Given the description of an element on the screen output the (x, y) to click on. 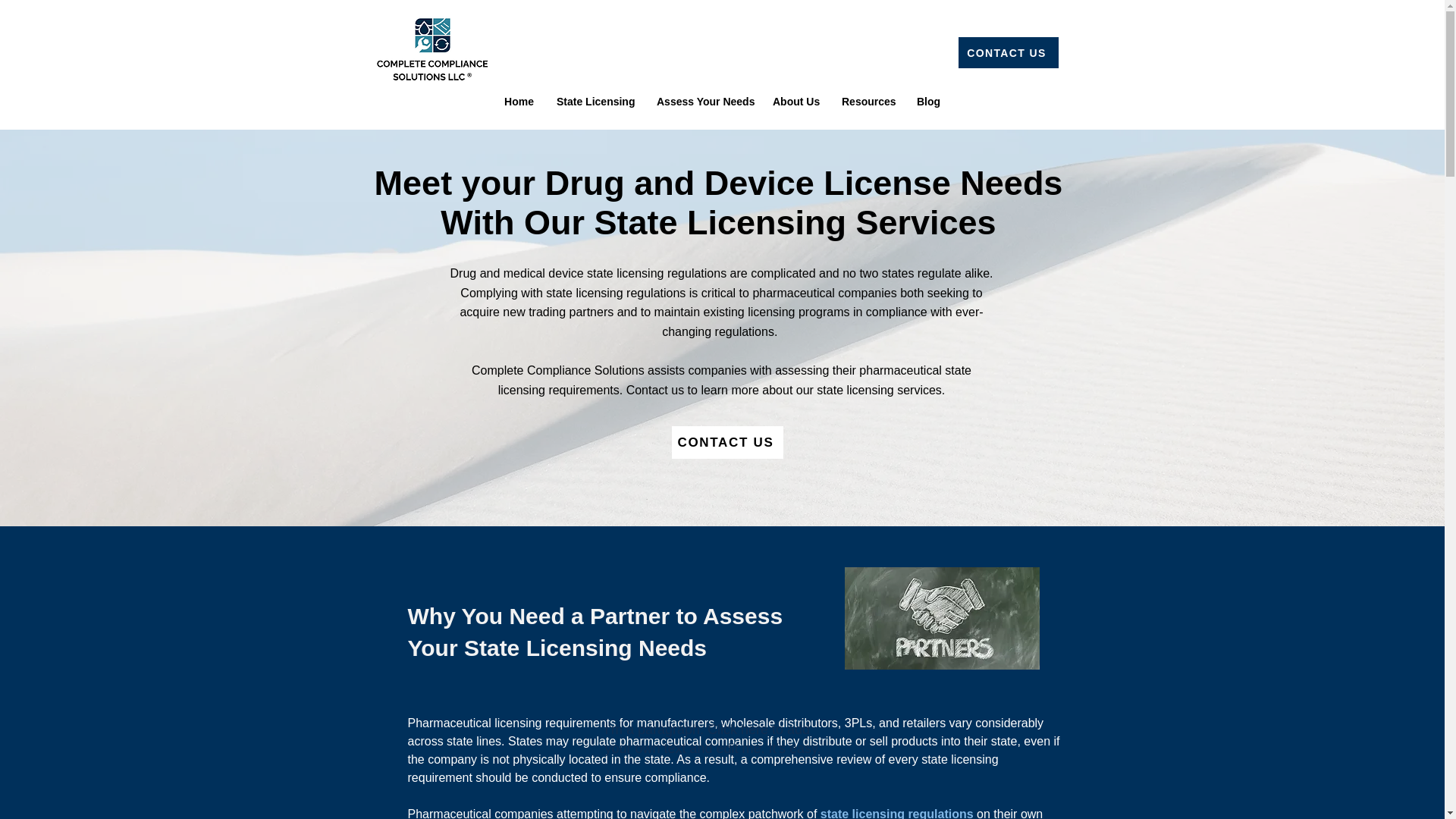
Blog (928, 101)
Home (518, 101)
CONTACT US (727, 441)
state licensing regulations (897, 813)
CONTACT US (1008, 51)
Assess Your Needs (703, 101)
